Given the description of an element on the screen output the (x, y) to click on. 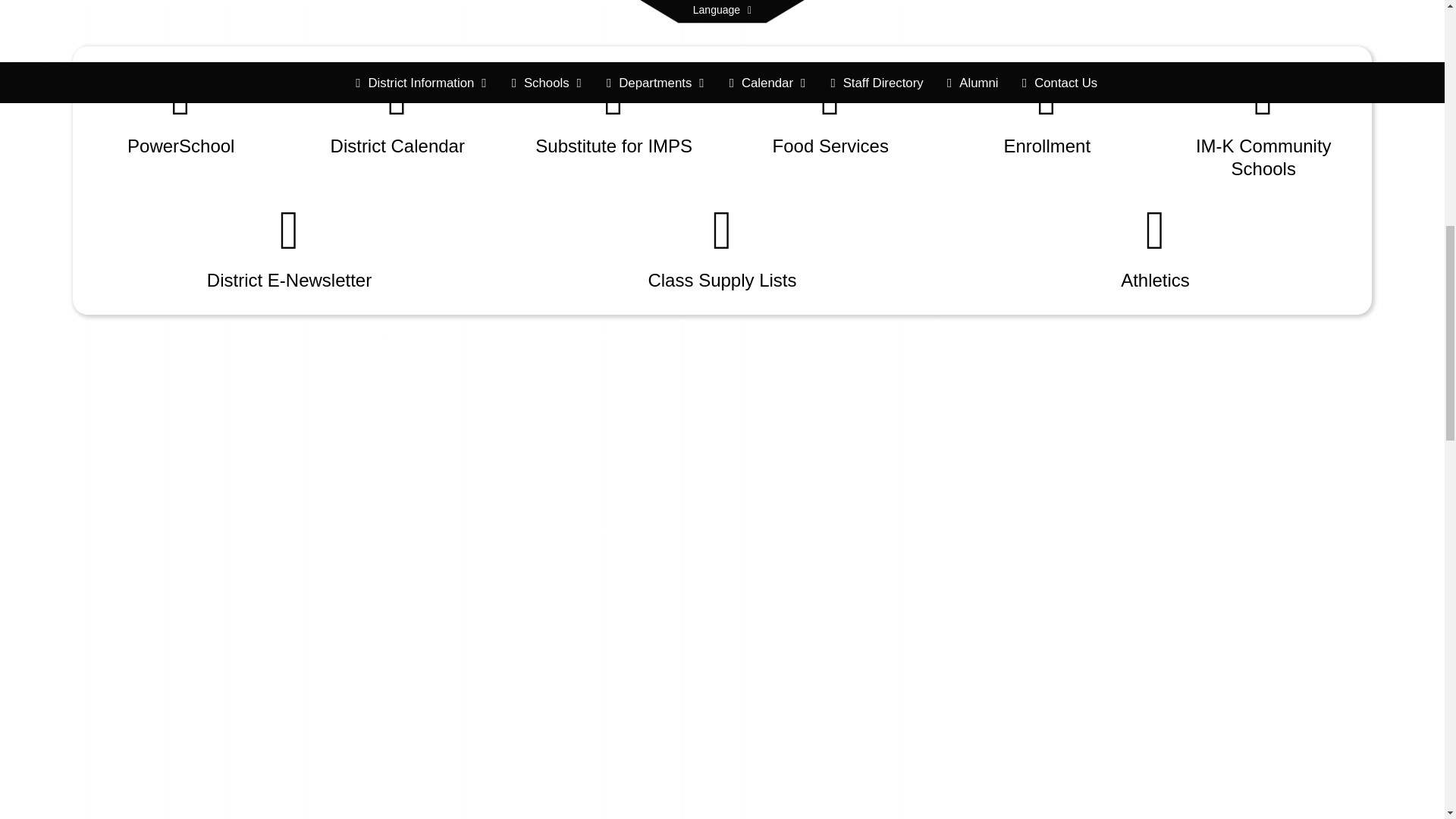
Class Supply Lists (722, 247)
Food Services (830, 113)
District Calendar (398, 113)
Enrollment (1047, 113)
Substitute for IMPS (613, 113)
Athletics (1155, 247)
IM-K Community Schools (1264, 124)
PowerSchool (181, 113)
District E-Newsletter (288, 247)
